Given the description of an element on the screen output the (x, y) to click on. 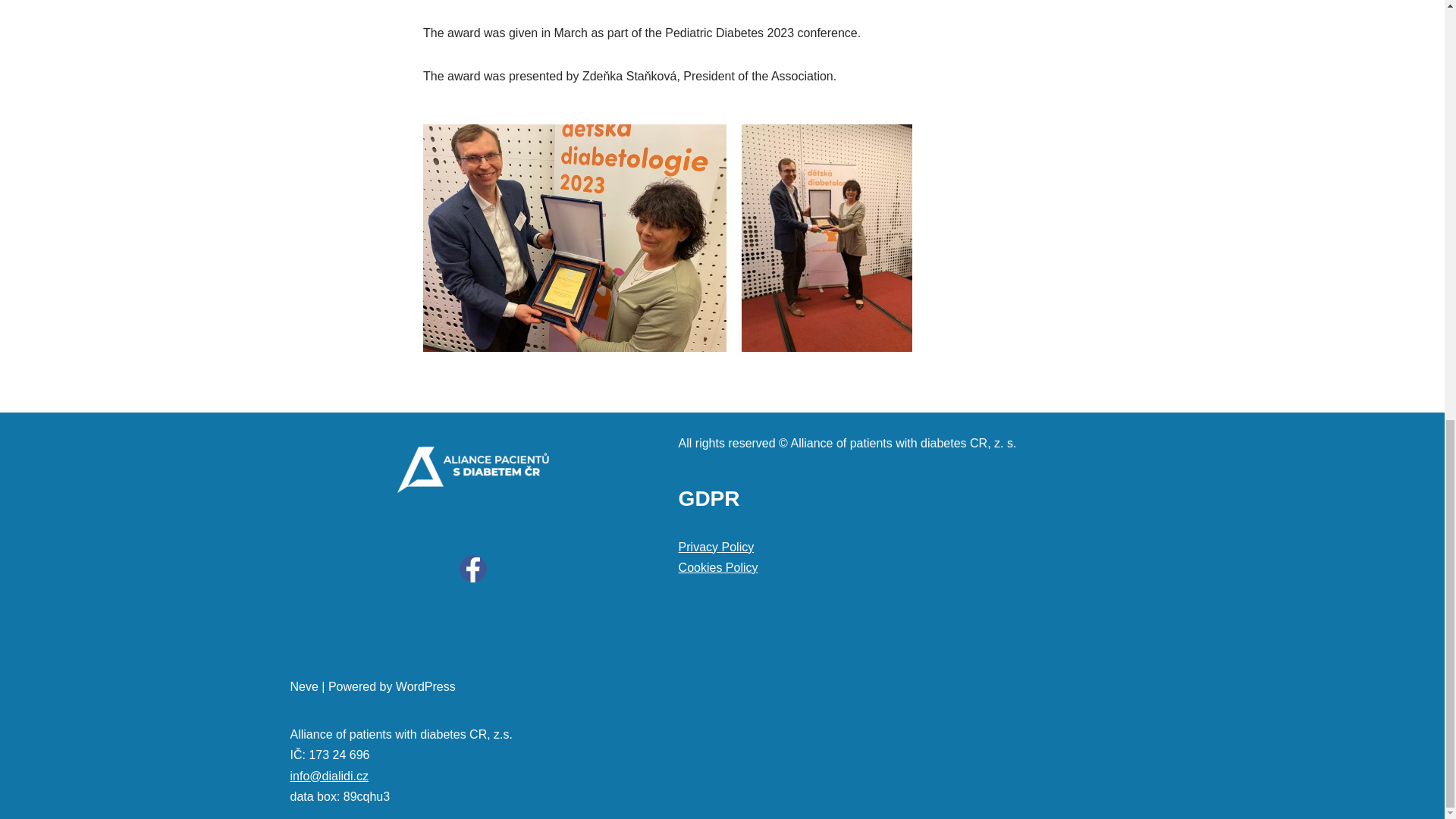
Neve (303, 686)
